Given the description of an element on the screen output the (x, y) to click on. 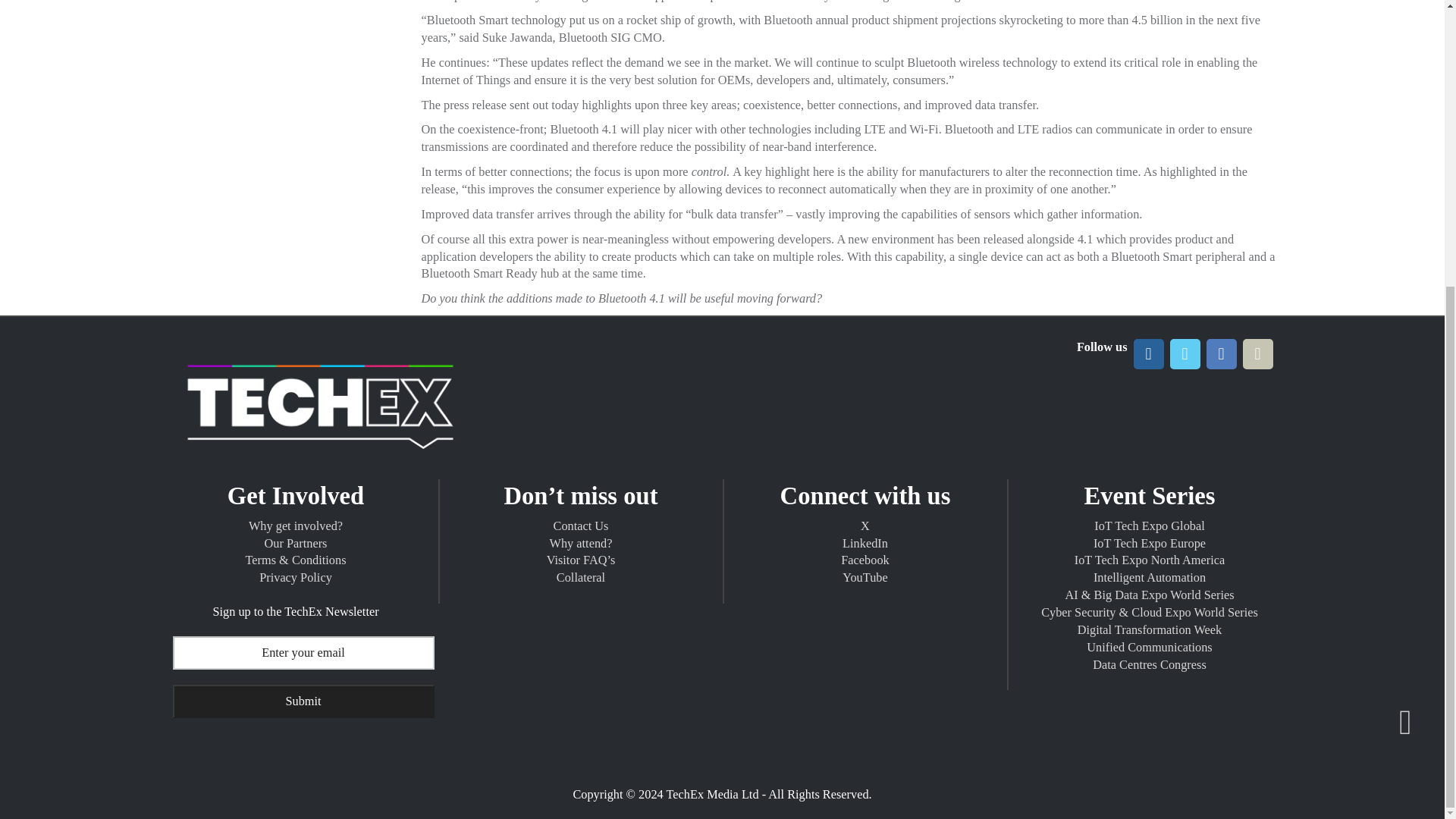
IoT Tech Expo Europe (319, 462)
Facebook (1220, 354)
Enter your email (303, 652)
LinkedIn (1147, 354)
Submit (303, 701)
Instagram (1256, 354)
Twitter (1184, 354)
